Given the description of an element on the screen output the (x, y) to click on. 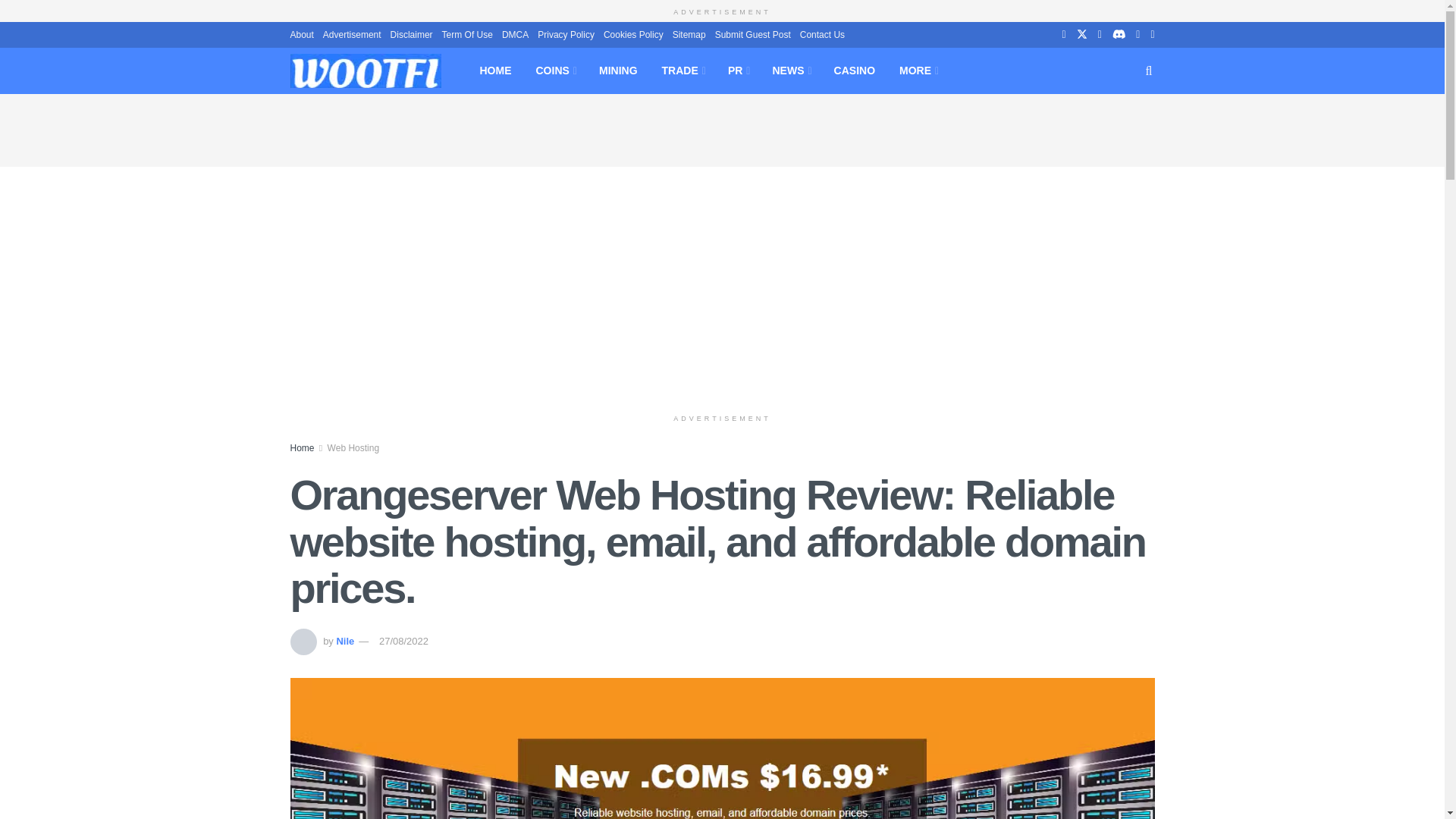
Advertisement (352, 33)
Term Of Use (467, 33)
Contact Us (821, 33)
HOME (494, 69)
COINS (554, 69)
Privacy Policy (565, 33)
NEWS (790, 69)
CASINO (854, 69)
TRADE (682, 69)
MINING (617, 69)
PR (738, 69)
DMCA (515, 33)
Submit Guest Post (752, 33)
About (301, 33)
MORE (917, 69)
